Given the description of an element on the screen output the (x, y) to click on. 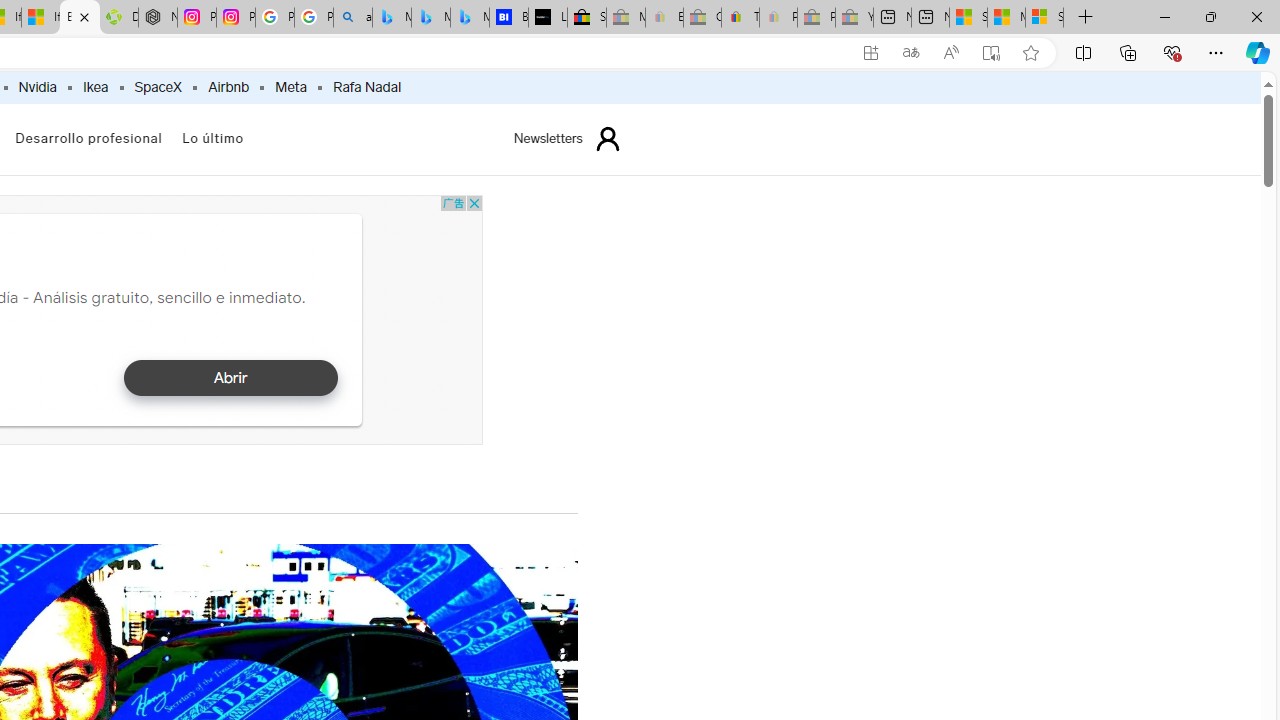
Airbnb (228, 88)
Nvidia (37, 88)
Sign in to your Microsoft account (1044, 17)
Meta (290, 88)
Show translate options (910, 53)
Nordace - Nordace Edin Collection (157, 17)
Yard, Garden & Outdoor Living - Sleeping (853, 17)
Rafa Nadal (366, 88)
Microsoft Bing Travel - Flights from Hong Kong to Bangkok (391, 17)
Microsoft Bing Travel - Shangri-La Hotel Bangkok (469, 17)
